Given the description of an element on the screen output the (x, y) to click on. 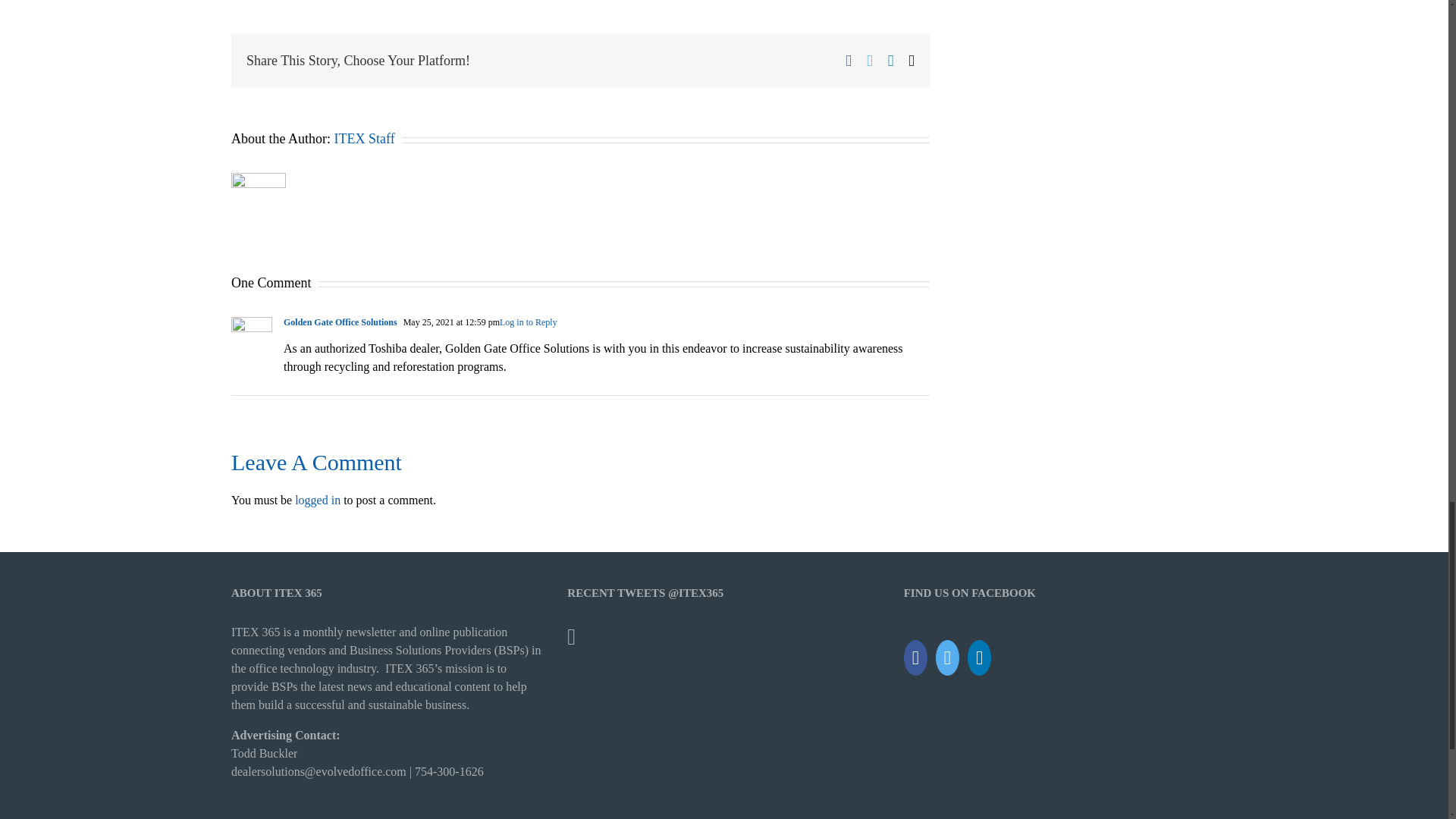
Posts by ITEX Staff (363, 138)
ITEX Staff (363, 138)
Golden Gate Office Solutions (340, 321)
